Given the description of an element on the screen output the (x, y) to click on. 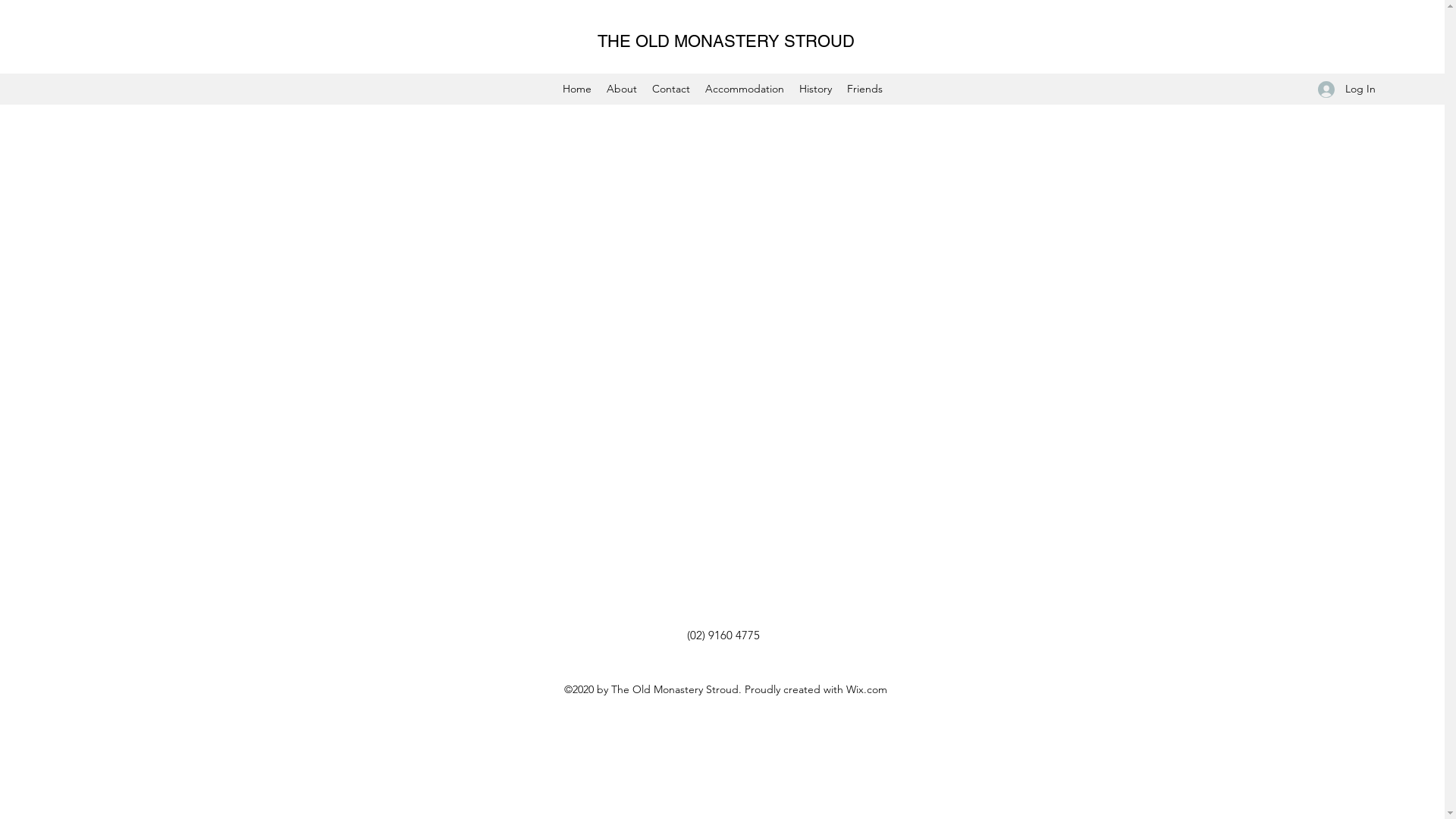
Friends Element type: text (863, 88)
History Element type: text (815, 88)
Contact Element type: text (670, 88)
Log In Element type: text (1346, 89)
About Element type: text (621, 88)
THE OLD MONASTERY STROUD Element type: text (725, 40)
Home Element type: text (577, 88)
Accommodation Element type: text (744, 88)
